Given the description of an element on the screen output the (x, y) to click on. 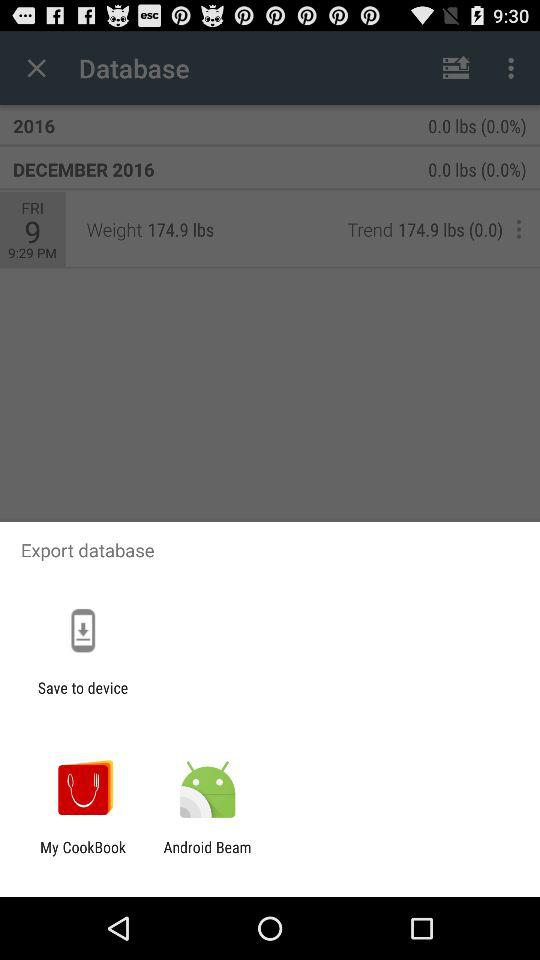
flip until the save to device (82, 696)
